Given the description of an element on the screen output the (x, y) to click on. 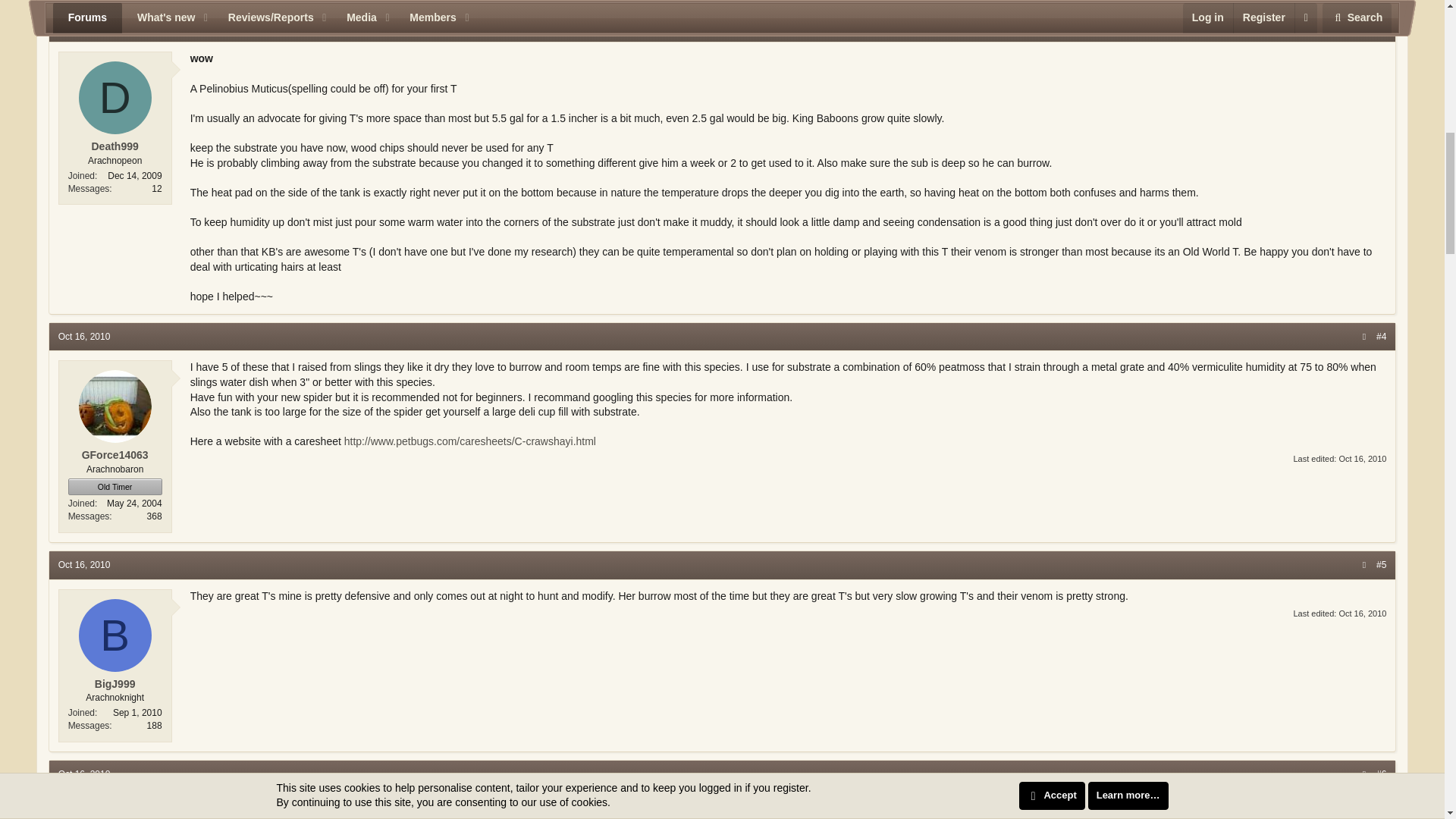
Oct 16, 2010 at 1:28 AM (84, 27)
Oct 16, 2010 at 1:49 AM (84, 564)
Oct 16, 2010 at 1:50 AM (84, 774)
Oct 16, 2010 at 1:59 AM (1362, 613)
Oct 16, 2010 at 1:54 AM (1362, 458)
Oct 16, 2010 at 1:46 AM (84, 336)
